Given the description of an element on the screen output the (x, y) to click on. 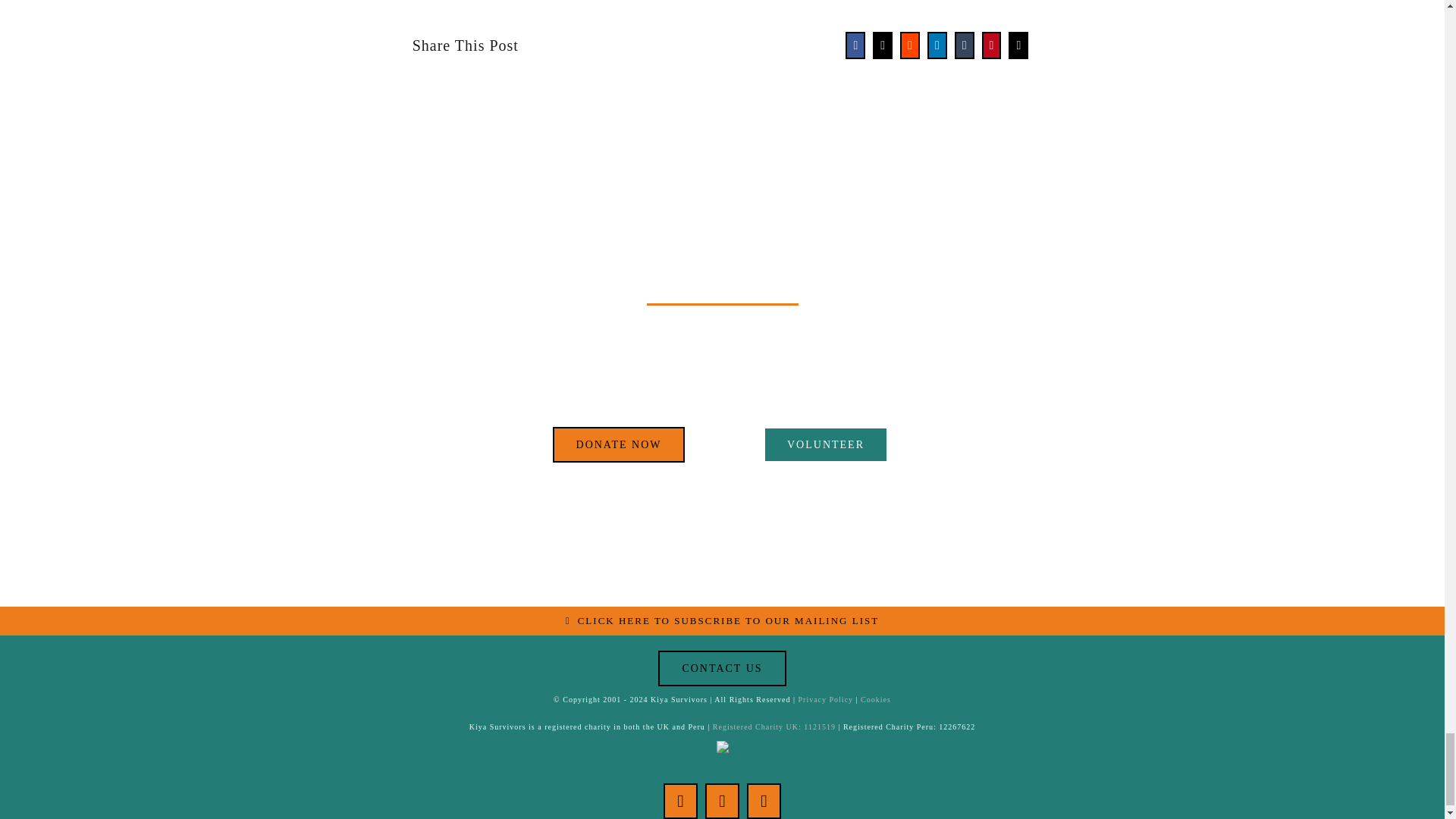
Facebook (680, 800)
CLICK HERE TO SUBSCRIBE TO OUR MAILING LIST (722, 620)
Twitter (721, 800)
Instagram (763, 800)
